Given the description of an element on the screen output the (x, y) to click on. 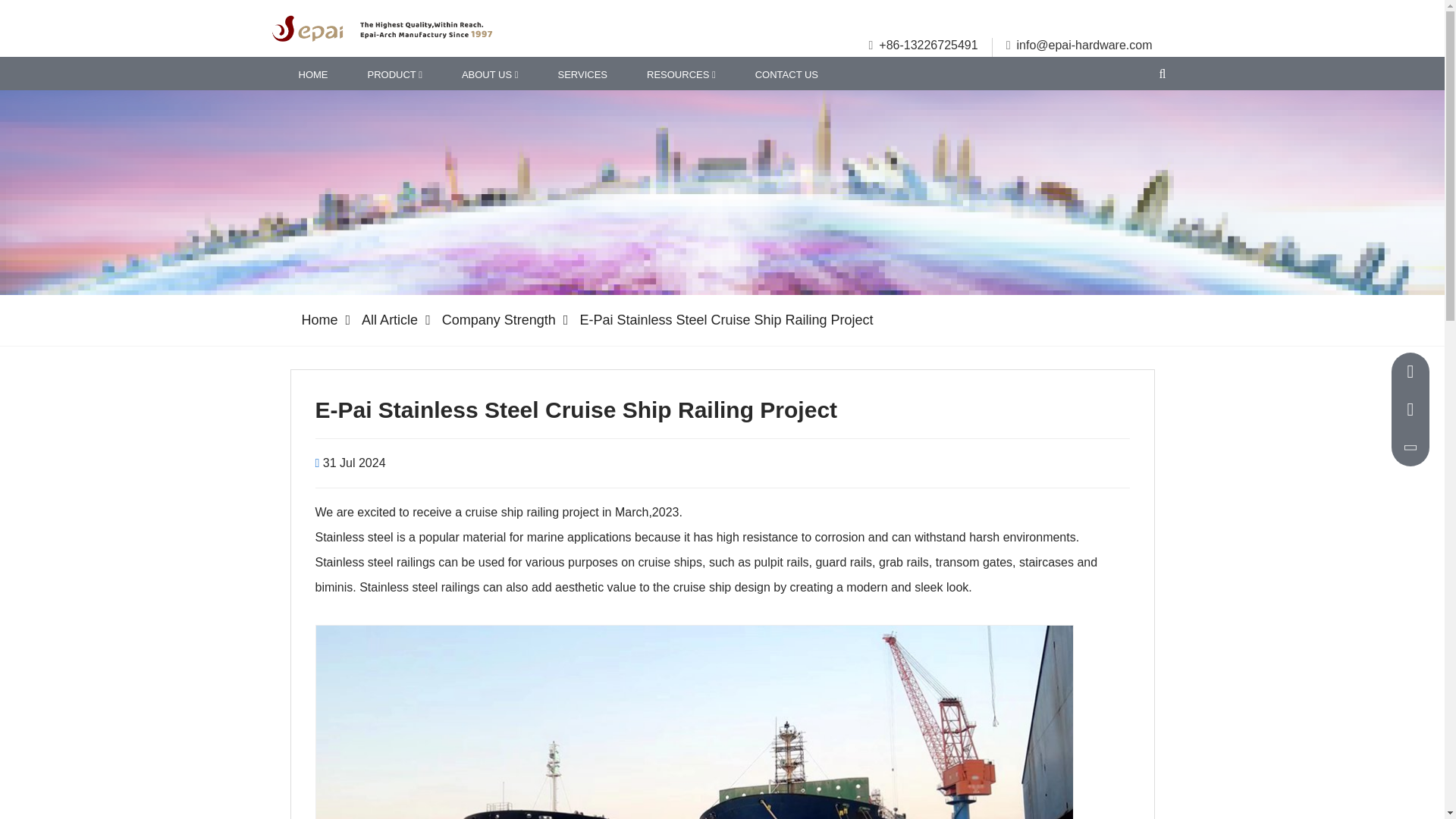
E-Pai Stainless Steel Cruise Ship Railing Project (725, 319)
CONTACT US (786, 73)
All Article (399, 319)
ABOUT US (490, 73)
HOME (313, 73)
Company Strength (509, 319)
Home (329, 319)
Company Strength (509, 319)
RESOURCES (681, 73)
31 Jul 2024 (354, 462)
PRODUCT (394, 73)
All Article (399, 319)
E-Pai Stainless Steel Cruise Ship Railing Project (725, 319)
SERVICES (582, 73)
